Given the description of an element on the screen output the (x, y) to click on. 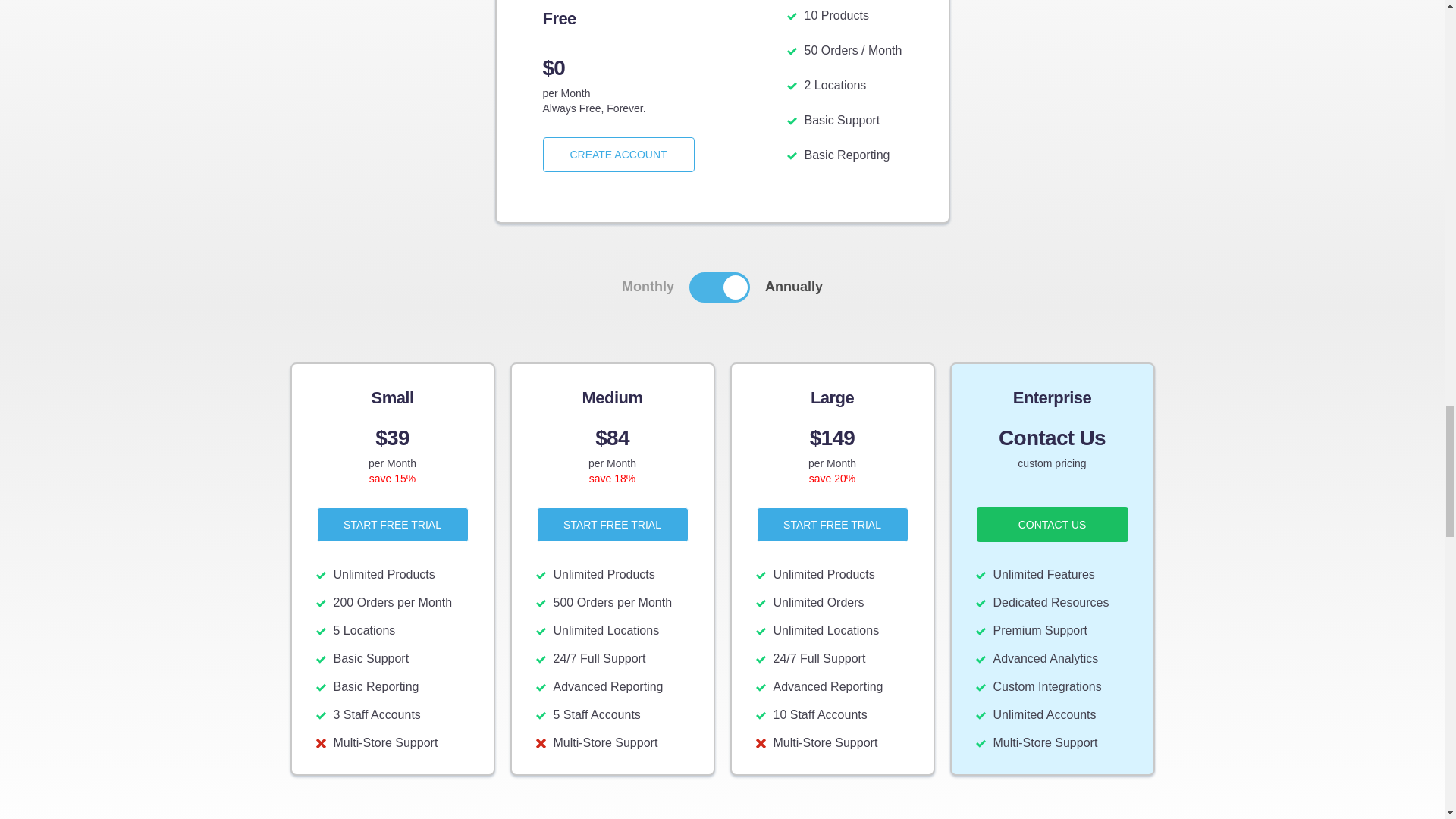
START FREE TRIAL (832, 523)
CONTACT US (1052, 523)
START FREE TRIAL (392, 523)
CONTACT US (1052, 524)
START FREE TRIAL (612, 524)
START FREE TRIAL (612, 523)
START FREE TRIAL (832, 524)
CREATE ACCOUNT (618, 154)
CREATE ACCOUNT (618, 154)
START FREE TRIAL (392, 524)
